Given the description of an element on the screen output the (x, y) to click on. 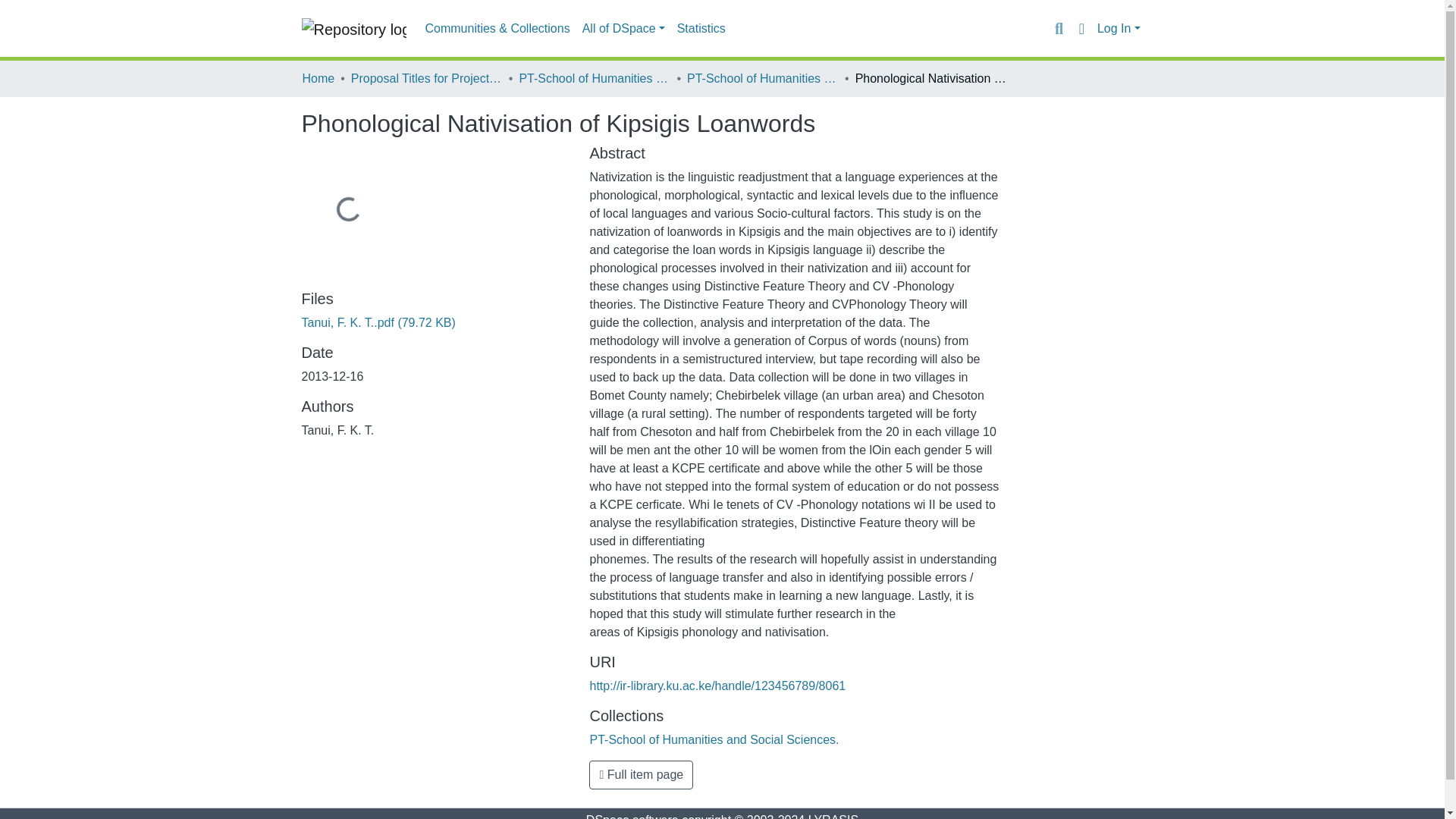
Log In (1118, 28)
DSpace software (632, 816)
Full item page (641, 774)
Statistics (701, 28)
PT-School of Humanities and Social Sciences. (593, 78)
PT-School of Humanities and Social Sciences. (762, 78)
PT-School of Humanities and Social Sciences. (713, 739)
Statistics (701, 28)
All of DSpace (623, 28)
Home (317, 78)
LYRASIS (833, 816)
Search (1058, 28)
Language switch (1081, 28)
